Given the description of an element on the screen output the (x, y) to click on. 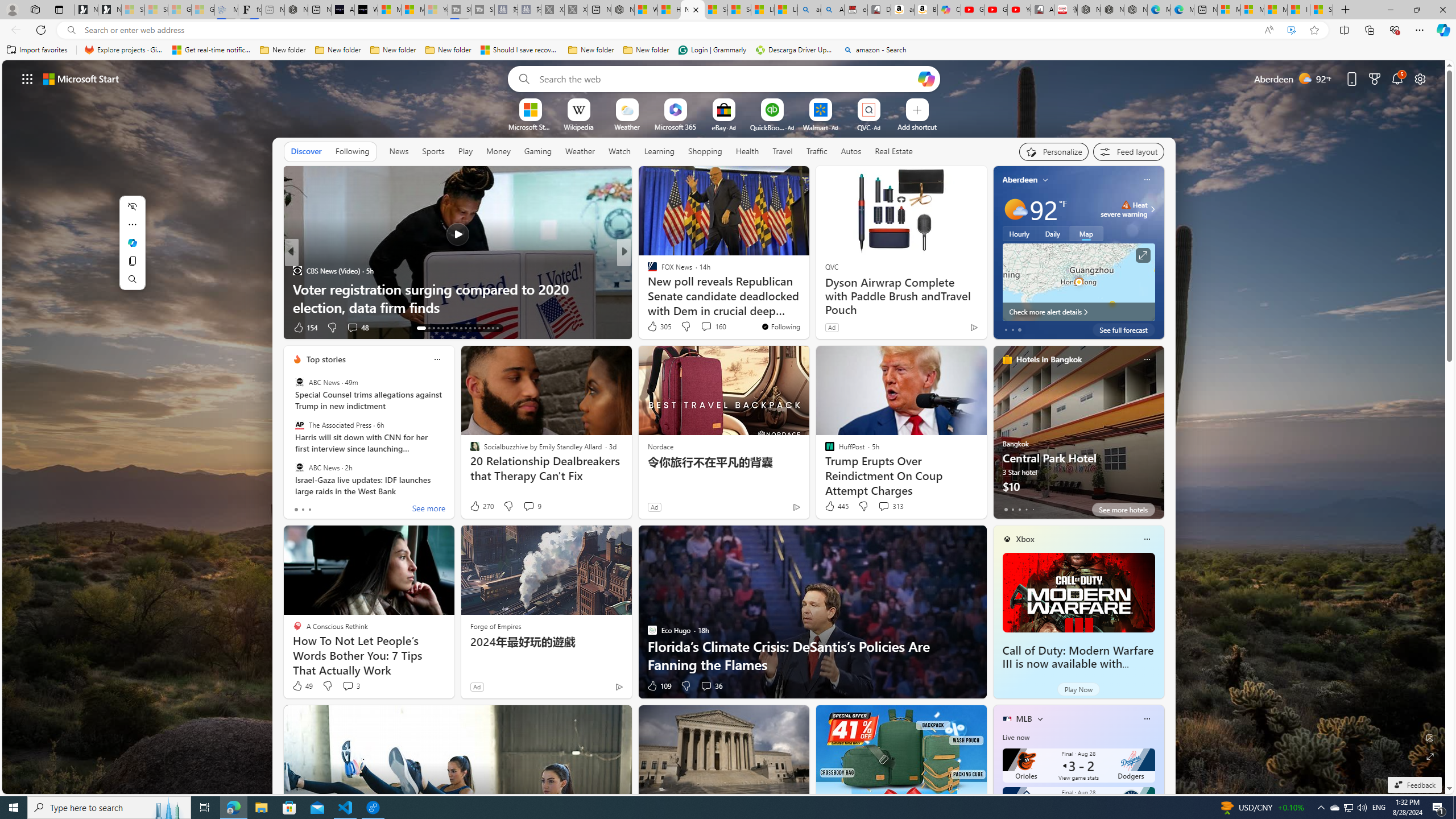
Refresh (40, 29)
Expand background (1430, 756)
Mini menu on text selection (132, 249)
See more (795, 179)
View comments 48 Comment (6, 327)
Watch (619, 151)
X - Sleeping (575, 9)
View comments 107 Comment (709, 327)
Map (1085, 233)
Class: control (27, 78)
hotels-header-icon (1006, 358)
5 tips for using a TV as a PC monitor (807, 307)
Tom's Guide (647, 288)
